Given the description of an element on the screen output the (x, y) to click on. 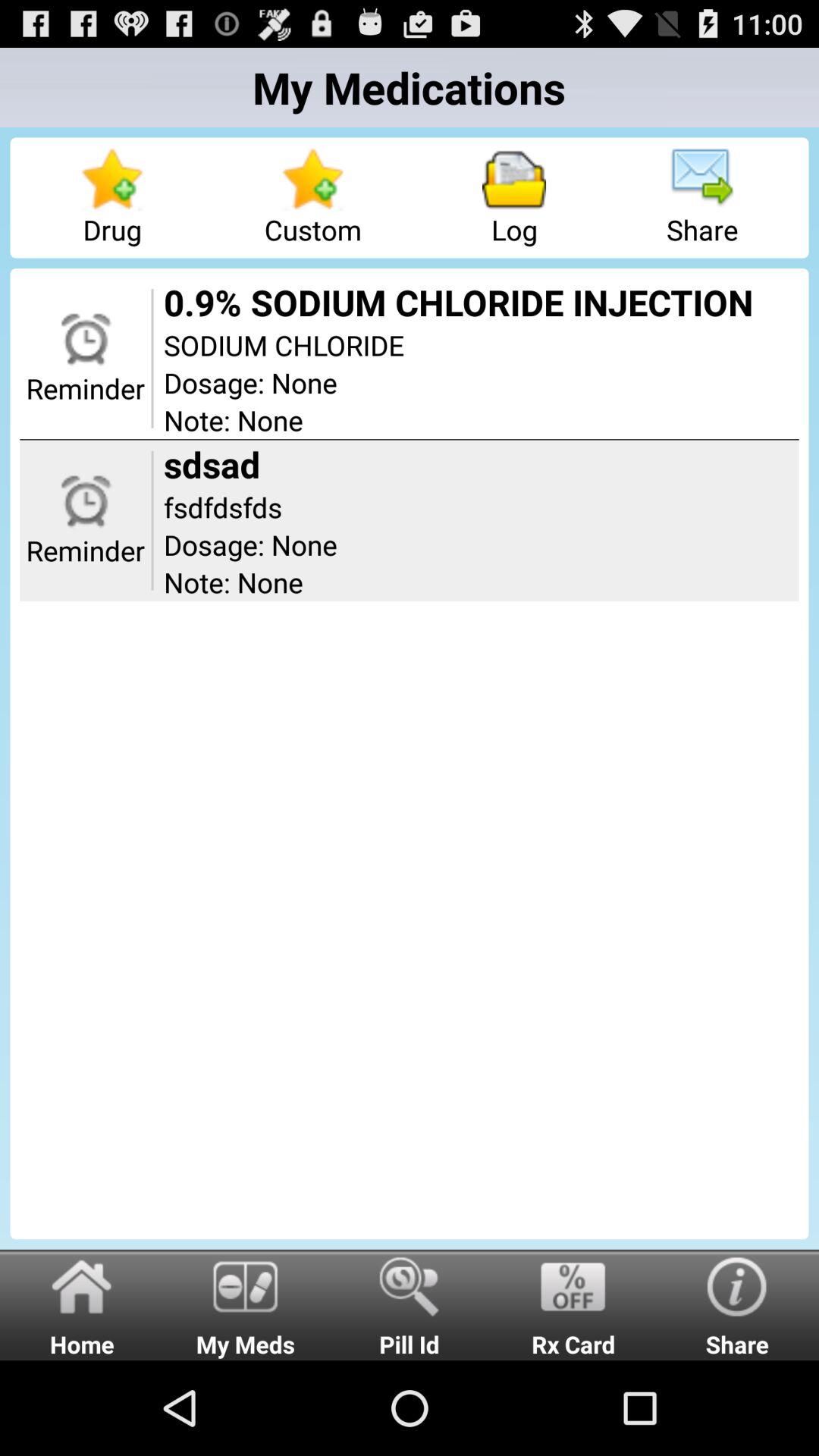
click radio button next to share radio button (573, 1304)
